Given the description of an element on the screen output the (x, y) to click on. 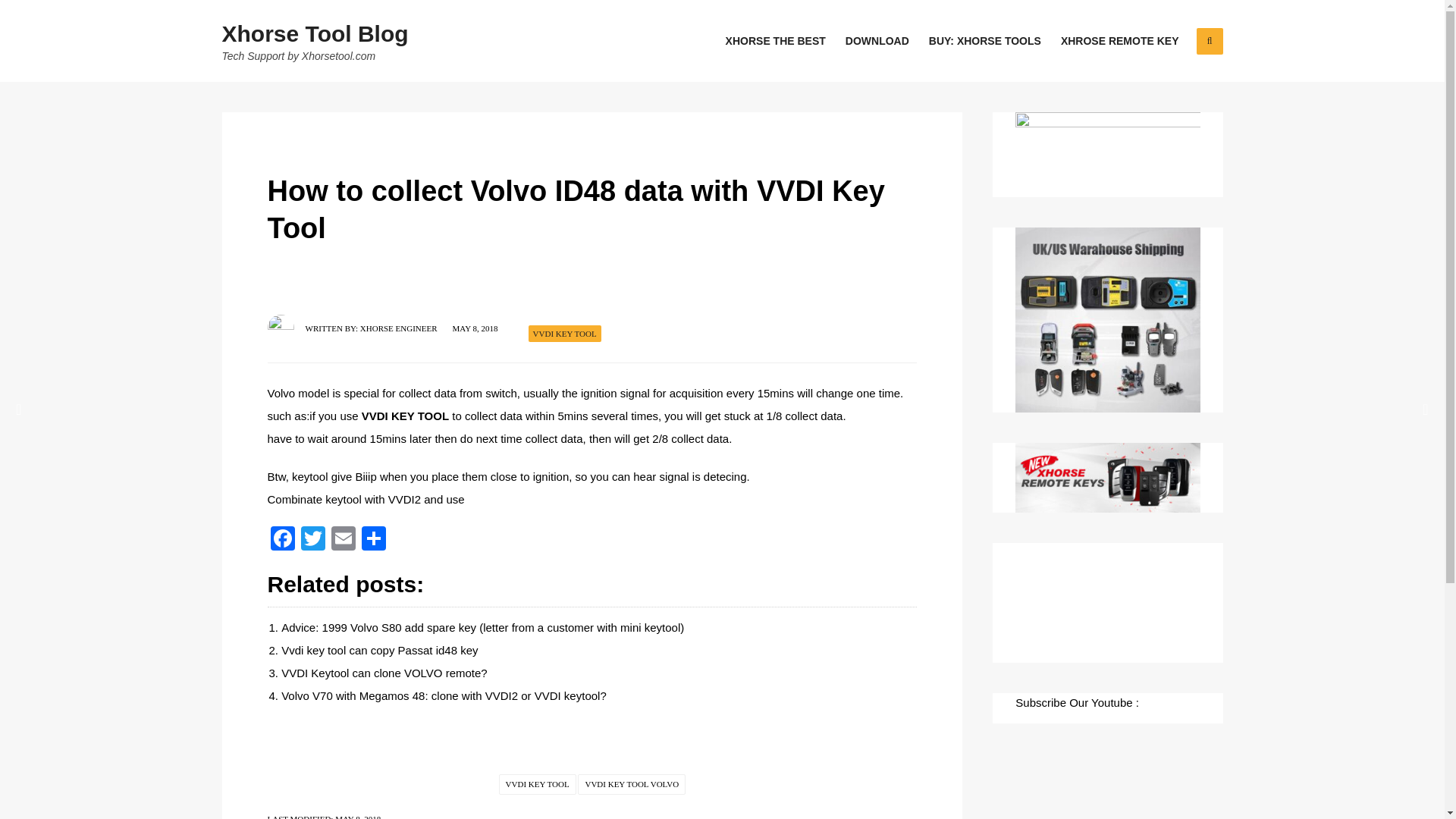
Vvdi key tool can copy Passat id48 key (379, 649)
Xhorse Tool Blog (314, 33)
Email (342, 540)
XHORSE THE BEST (774, 40)
Facebook (281, 540)
Volvo V70 with Megamos 48: clone with VVDI2 or VVDI keytool? (444, 695)
VVDI KEY TOOL (404, 415)
XHROSE REMOTE KEY (1119, 40)
VVDI Keytool can clone VOLVO remote? (384, 672)
Vvdi key tool can copy Passat id48 key (379, 649)
Xhorse tool USA UK Shipping (1106, 319)
Posts by Xhorse engineer (398, 327)
VVDI KEY TOOL VOLVO (631, 783)
DOWNLOAD (877, 40)
VVDI Keytool can clone VOLVO remote? (384, 672)
